Given the description of an element on the screen output the (x, y) to click on. 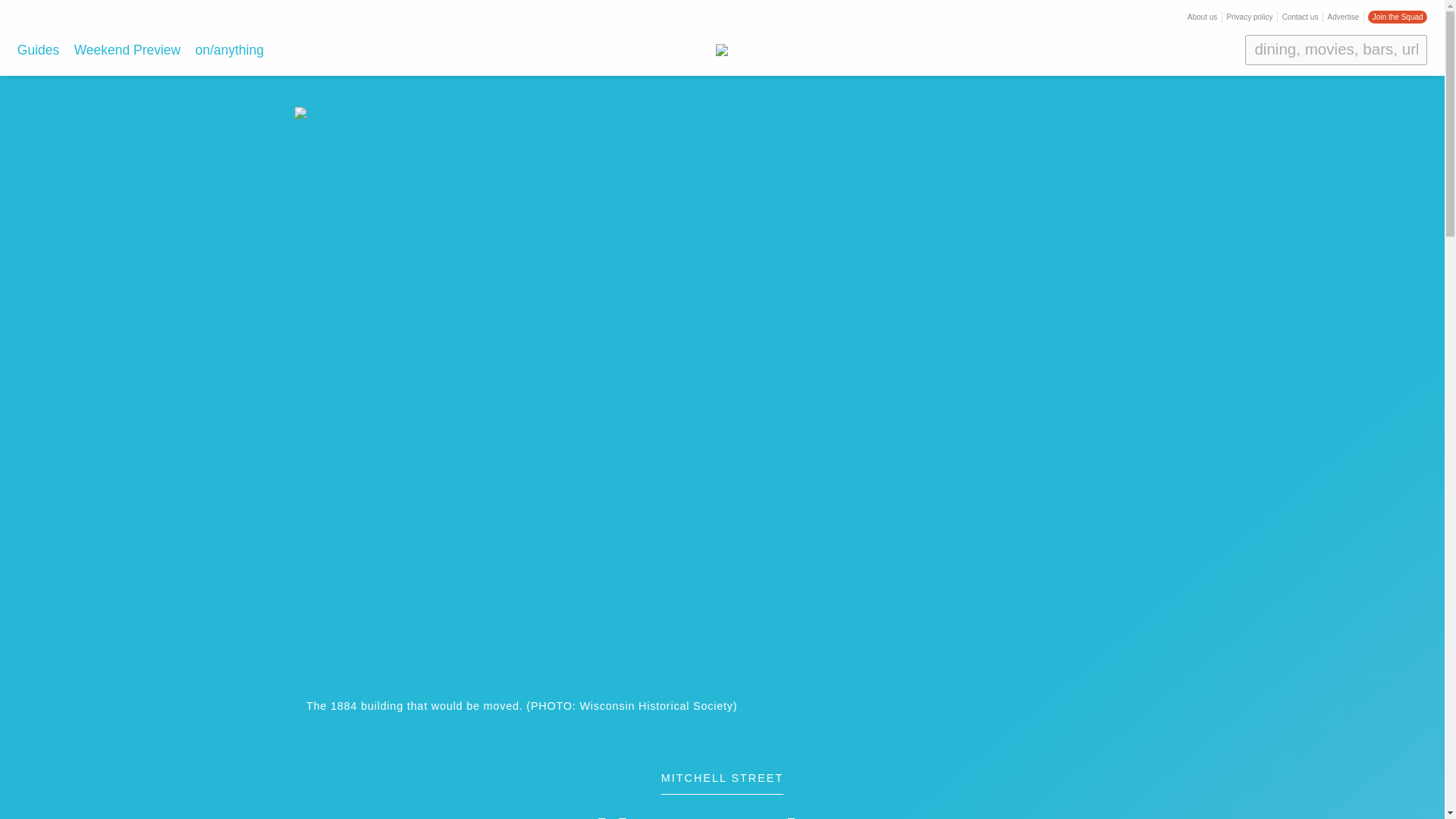
MITCHELL STREET (722, 784)
Privacy policy (1248, 17)
dining, movies, bars, urban spelunking (1335, 50)
dining, movies, bars, urban spelunking (1335, 50)
Join the Squad (1397, 16)
Guides (38, 49)
Contact us (1300, 17)
Advertise (1343, 17)
About us (1202, 17)
Weekend Preview (127, 49)
